Given the description of an element on the screen output the (x, y) to click on. 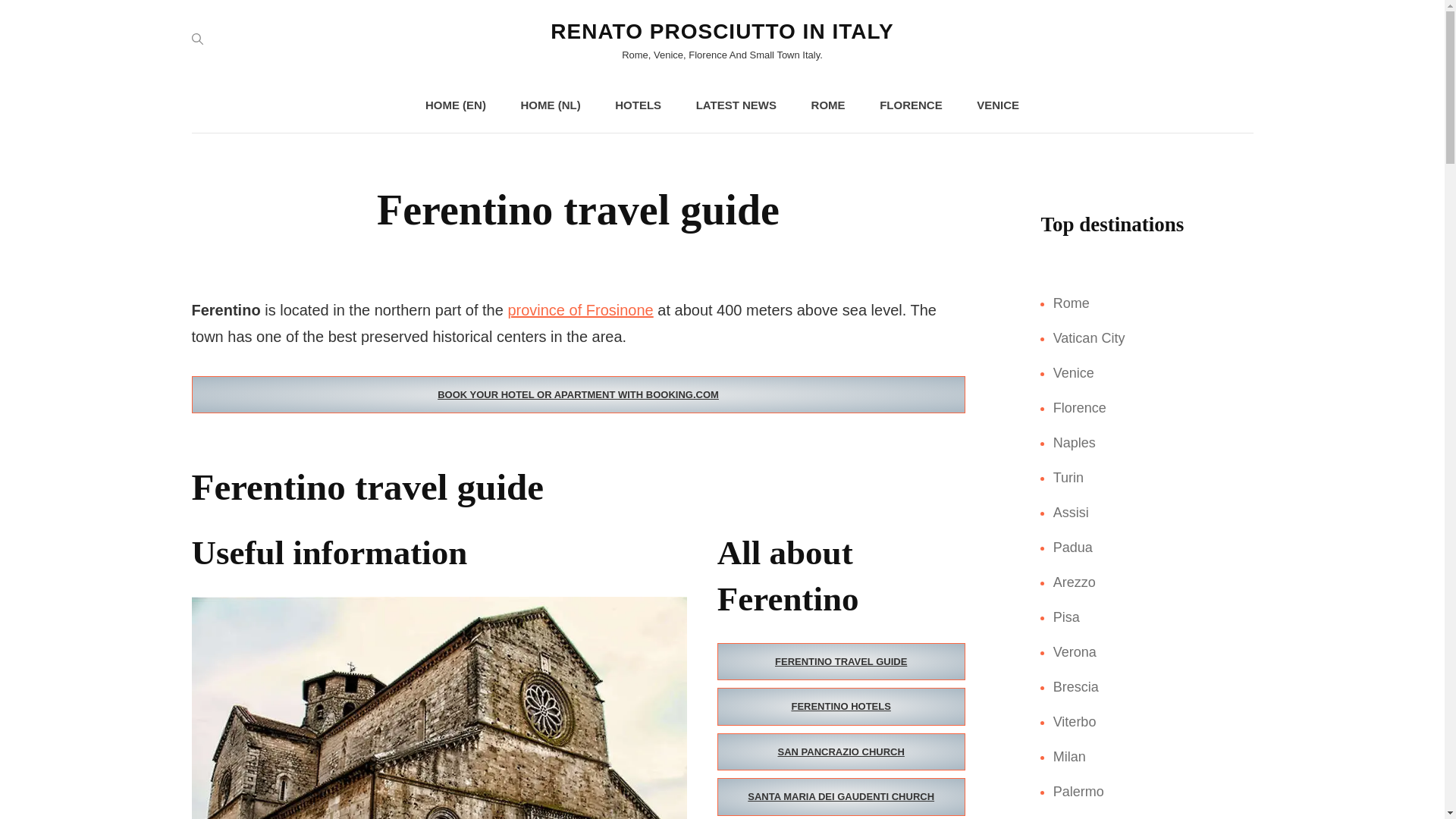
VENICE (996, 104)
ROME (828, 104)
SANTA MARIA DEI GAUDENTI CHURCH (841, 796)
HOTELS (638, 104)
LATEST NEWS (736, 104)
FERENTINO TRAVEL GUIDE (841, 661)
SAN PANCRAZIO CHURCH (841, 752)
BOOK YOUR HOTEL OR APARTMENT WITH BOOKING.COM (576, 394)
province of Frosinone (579, 310)
RENATO PROSCIUTTO IN ITALY (721, 31)
FERENTINO HOTELS (841, 706)
FLORENCE (911, 104)
